Given the description of an element on the screen output the (x, y) to click on. 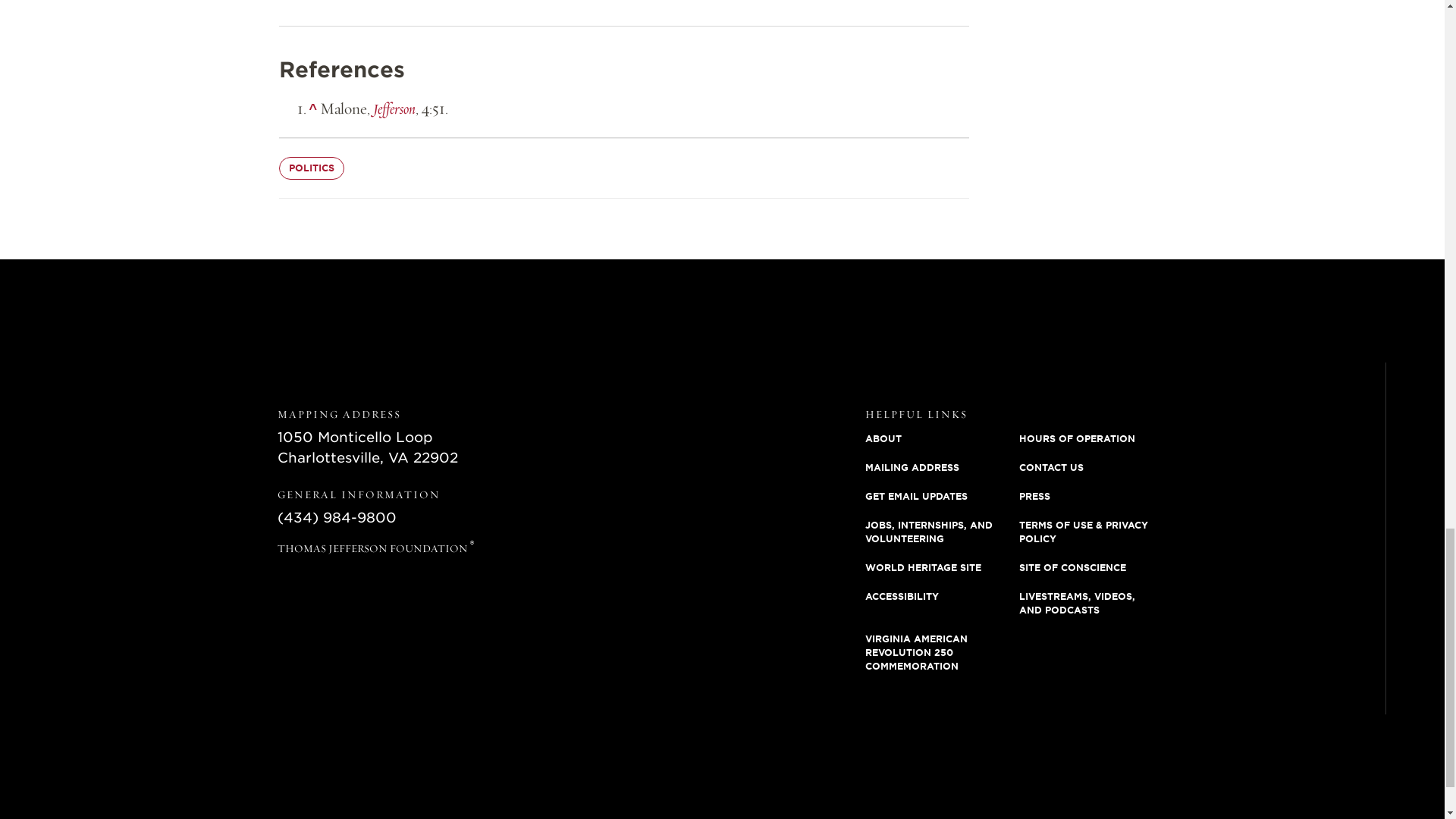
JOBS, INTERNSHIPS, AND VOLUNTEERING (941, 532)
Twitter (1414, 502)
MAILING ADDRESS (941, 467)
VIRGINIA AMERICAN REVOLUTION 250 COMMEMORATION (941, 652)
LIVESTREAMS, VIDEOS, AND PODCASTS (1096, 603)
Jefferson (393, 108)
Facebook (1414, 426)
SITE OF CONSCIENCE (1096, 567)
Instagram (1414, 464)
GET EMAIL UPDATES (941, 496)
